Given the description of an element on the screen output the (x, y) to click on. 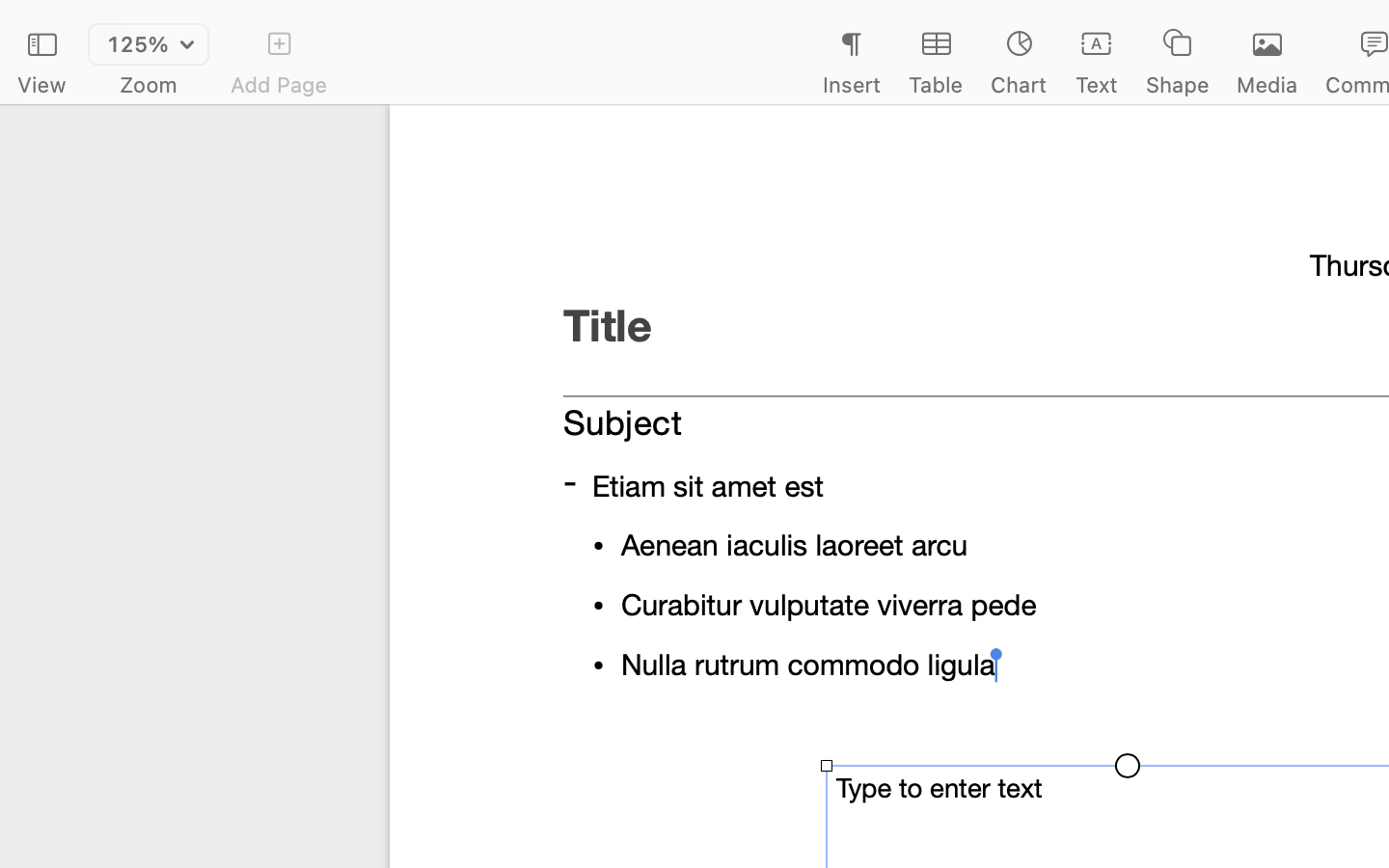
Learn More Element type: AXStaticText (1126, 618)
View Element type: AXStaticText (41, 84)
